Given the description of an element on the screen output the (x, y) to click on. 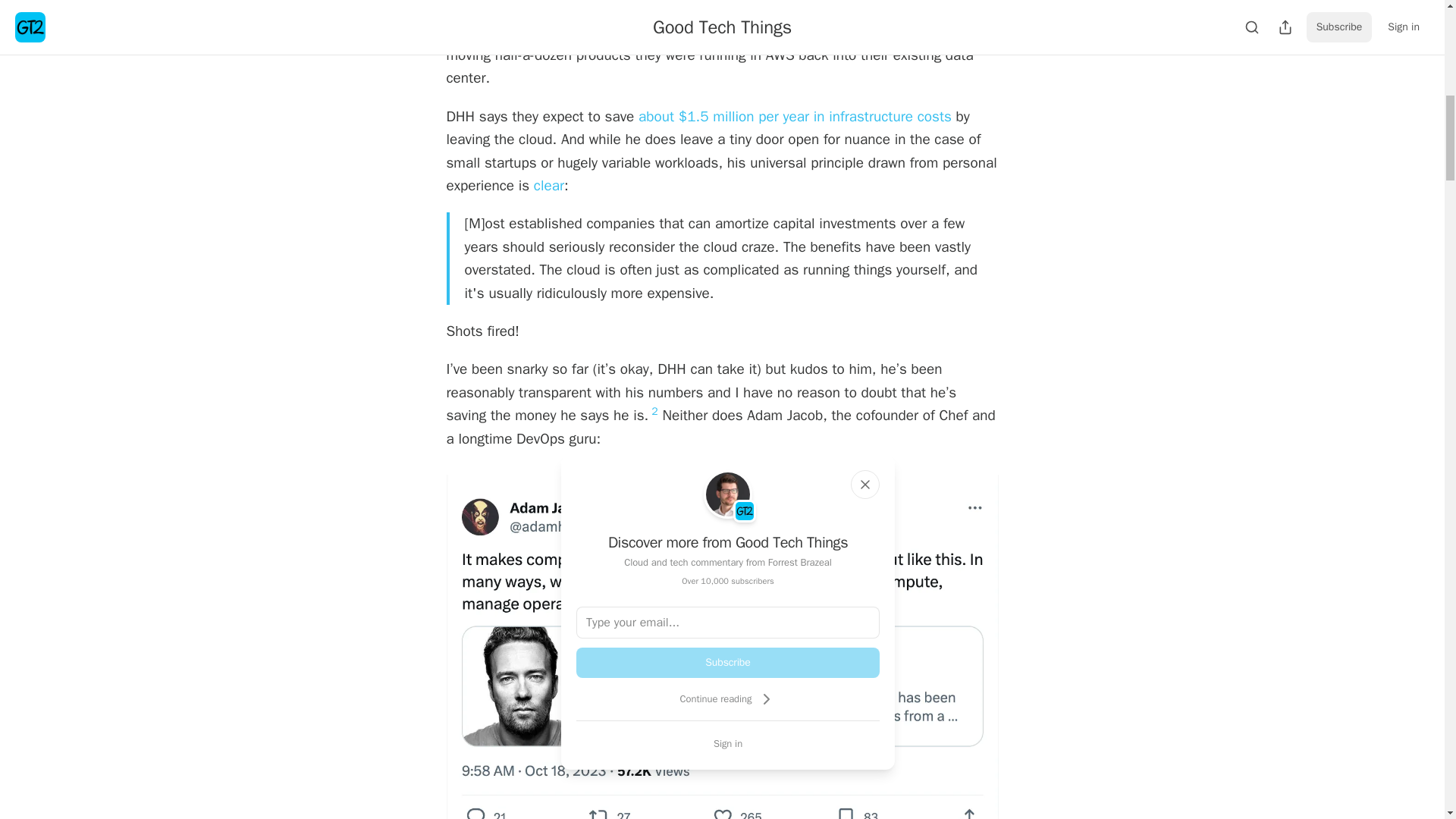
recently completed a cloud exit (864, 32)
clear (549, 185)
Sign in (727, 743)
Subscribe (727, 662)
